Given the description of an element on the screen output the (x, y) to click on. 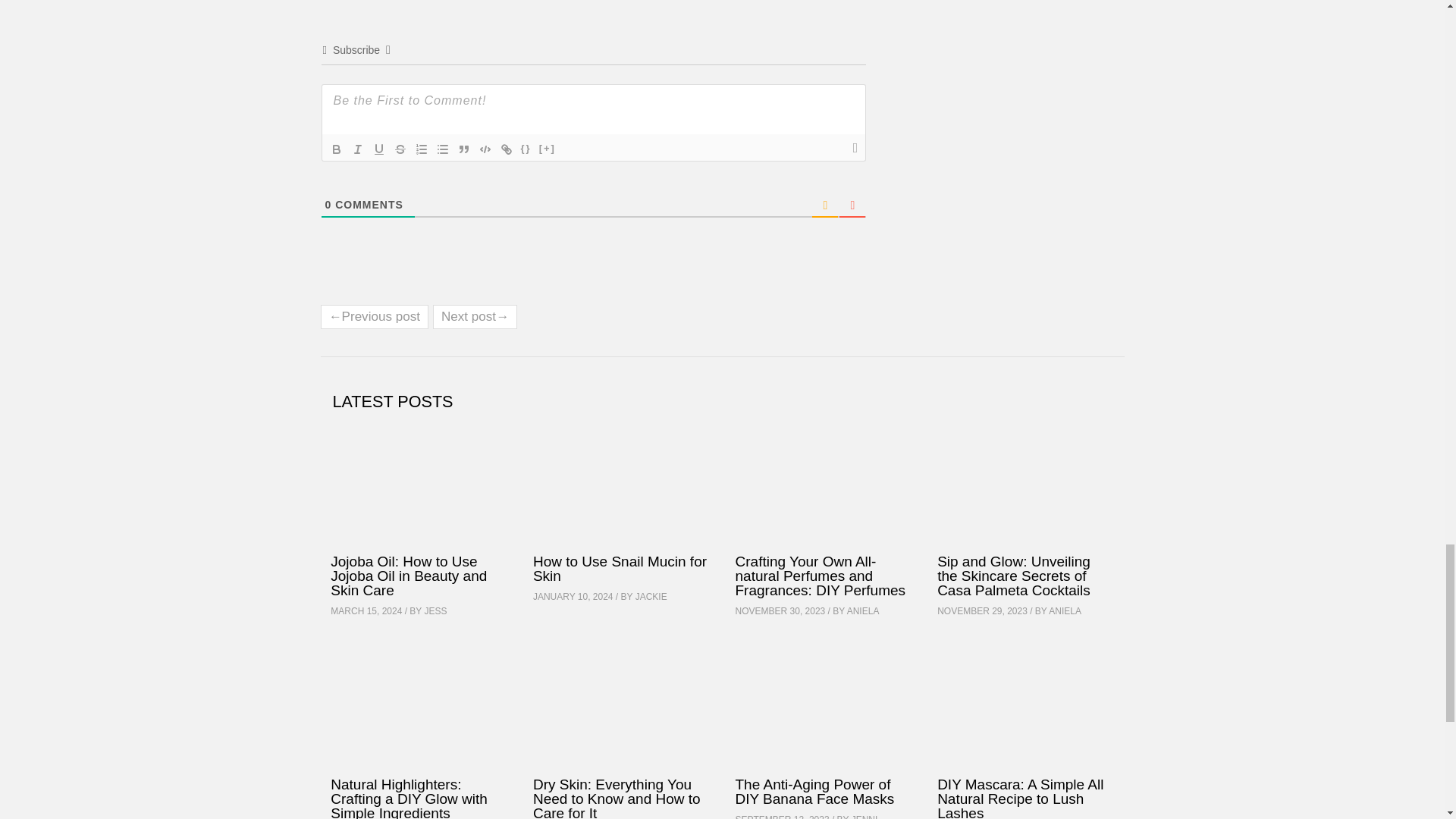
Underline (379, 149)
Bold (336, 149)
Code Block (485, 149)
Spoiler (547, 149)
Blockquote (463, 149)
Link (506, 149)
bullet (442, 149)
ordered (421, 149)
Strike (400, 149)
Italic (357, 149)
Ordered List (421, 149)
Source Code (525, 149)
Unordered List (442, 149)
